Given the description of an element on the screen output the (x, y) to click on. 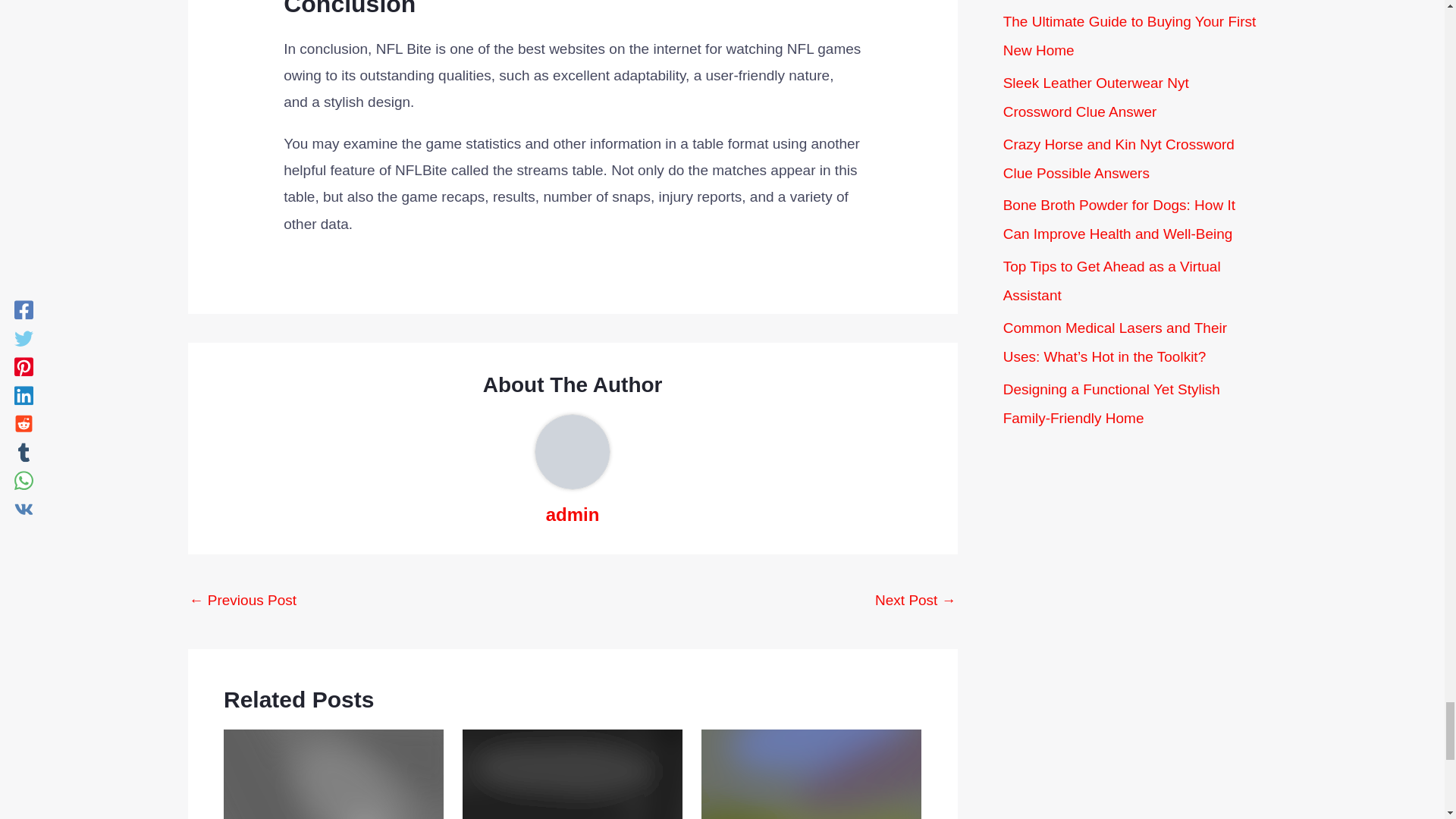
FotoJet 21 compressed (811, 774)
FotoJet 2022 02 19T003820 compressed (572, 774)
Roblox Sex Games: How To Find Them? A Complete Overview. (915, 601)
FotoJet 2022 01 26T212359 compressed (334, 774)
